Given the description of an element on the screen output the (x, y) to click on. 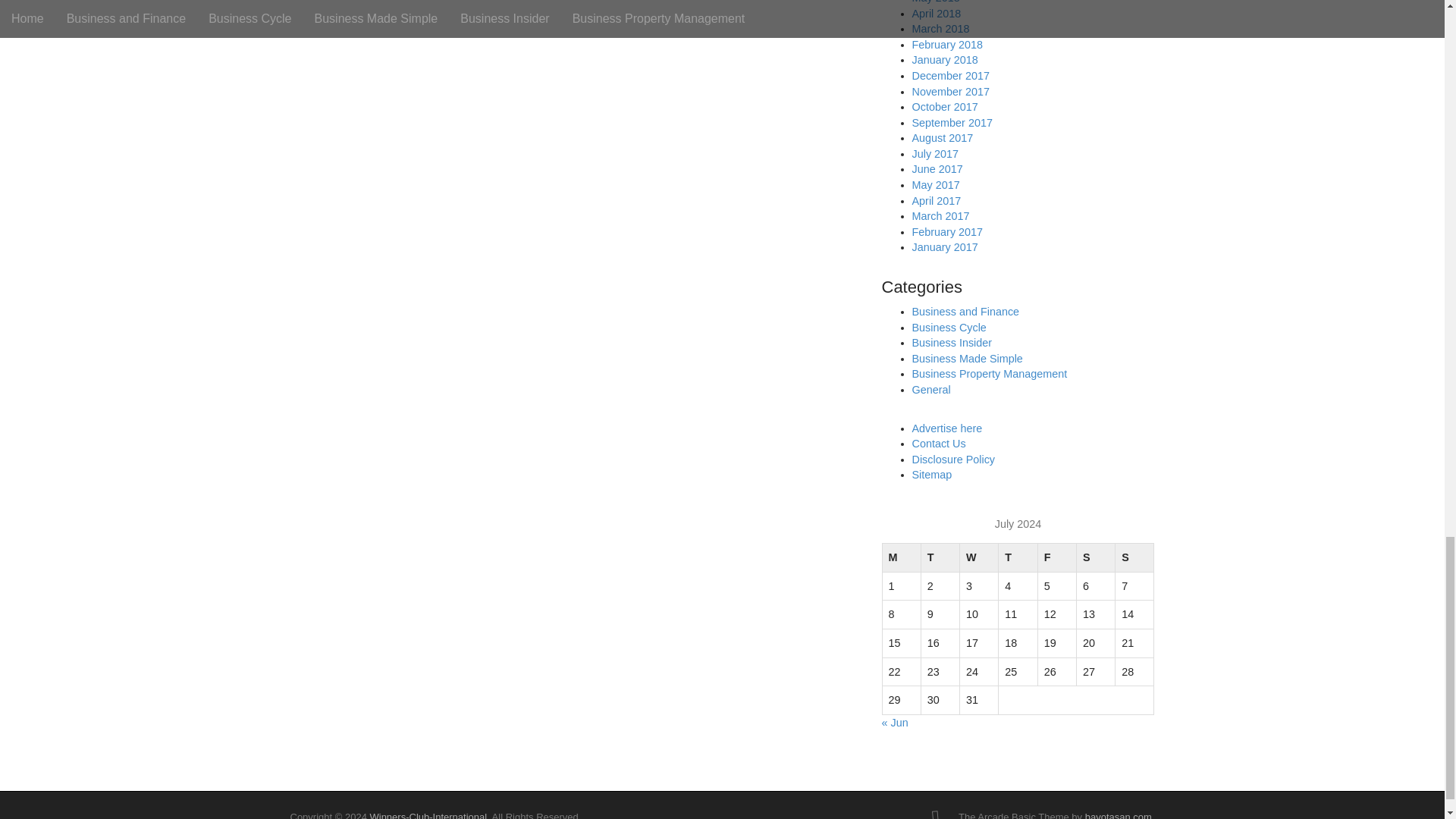
Sunday (1134, 557)
Wednesday (978, 557)
Thursday (1017, 557)
Tuesday (939, 557)
Saturday (1095, 557)
Monday (901, 557)
Friday (1055, 557)
